Given the description of an element on the screen output the (x, y) to click on. 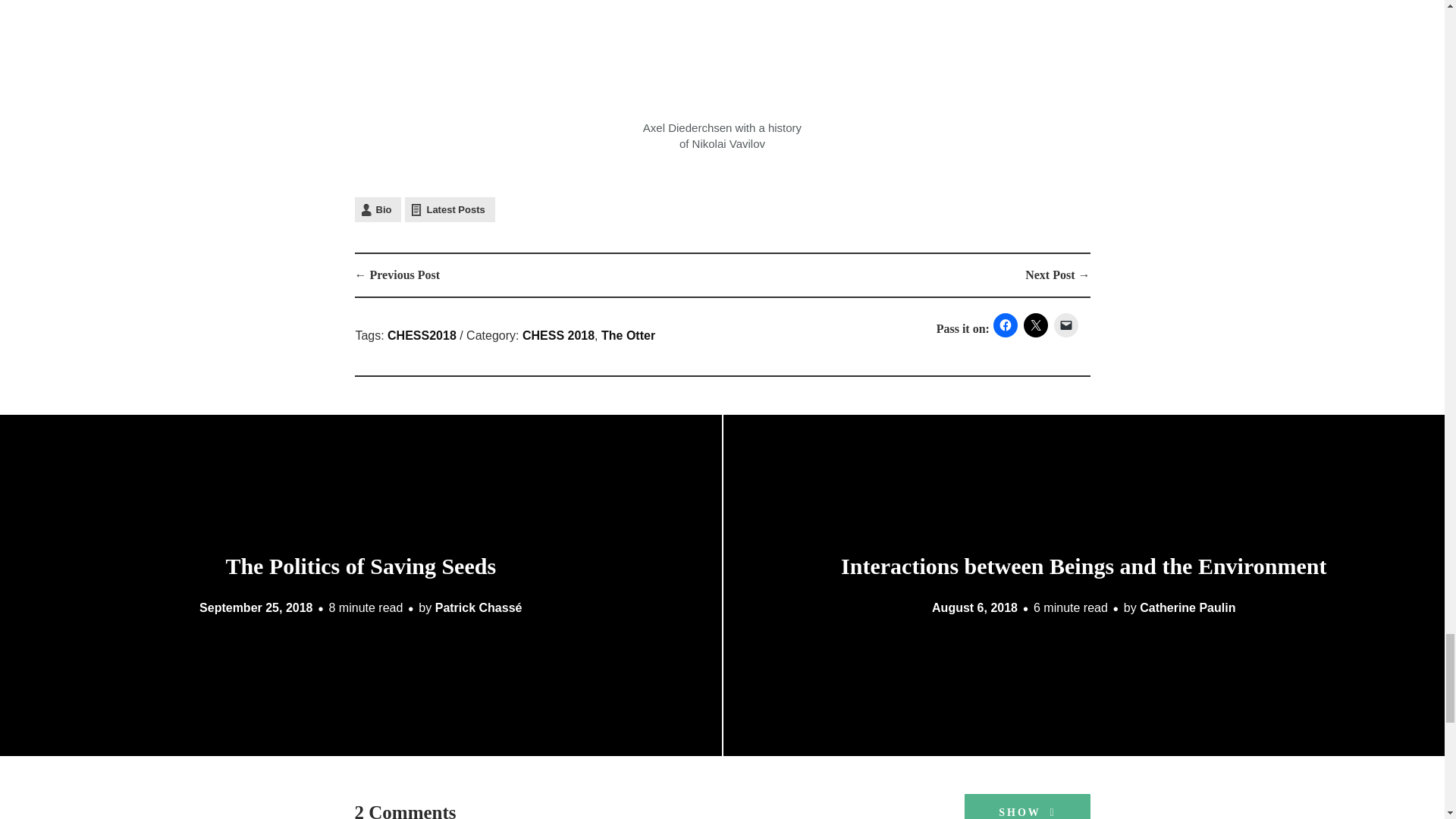
Click to share on Facebook (1004, 324)
8:00 am (974, 607)
Click to email a link to a friend (1066, 324)
Click to share on X (1035, 324)
8:00 am (256, 607)
